Given the description of an element on the screen output the (x, y) to click on. 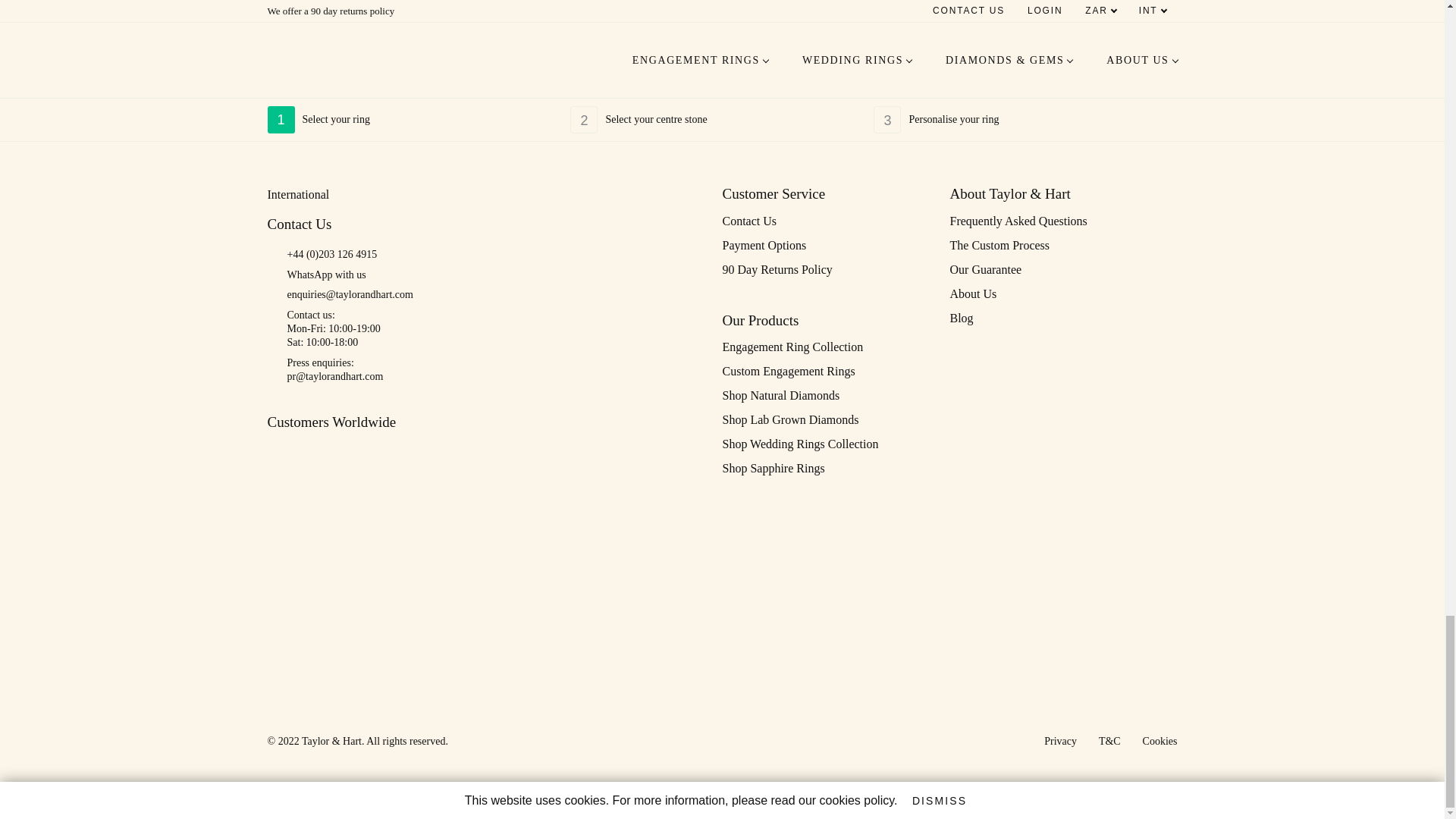
As seen in magazines (889, 83)
As seen in magazines (426, 83)
As seen in magazines (783, 83)
As seen in magazines (541, 83)
As seen in magazines (669, 83)
As seen in magazines (1013, 83)
